Given the description of an element on the screen output the (x, y) to click on. 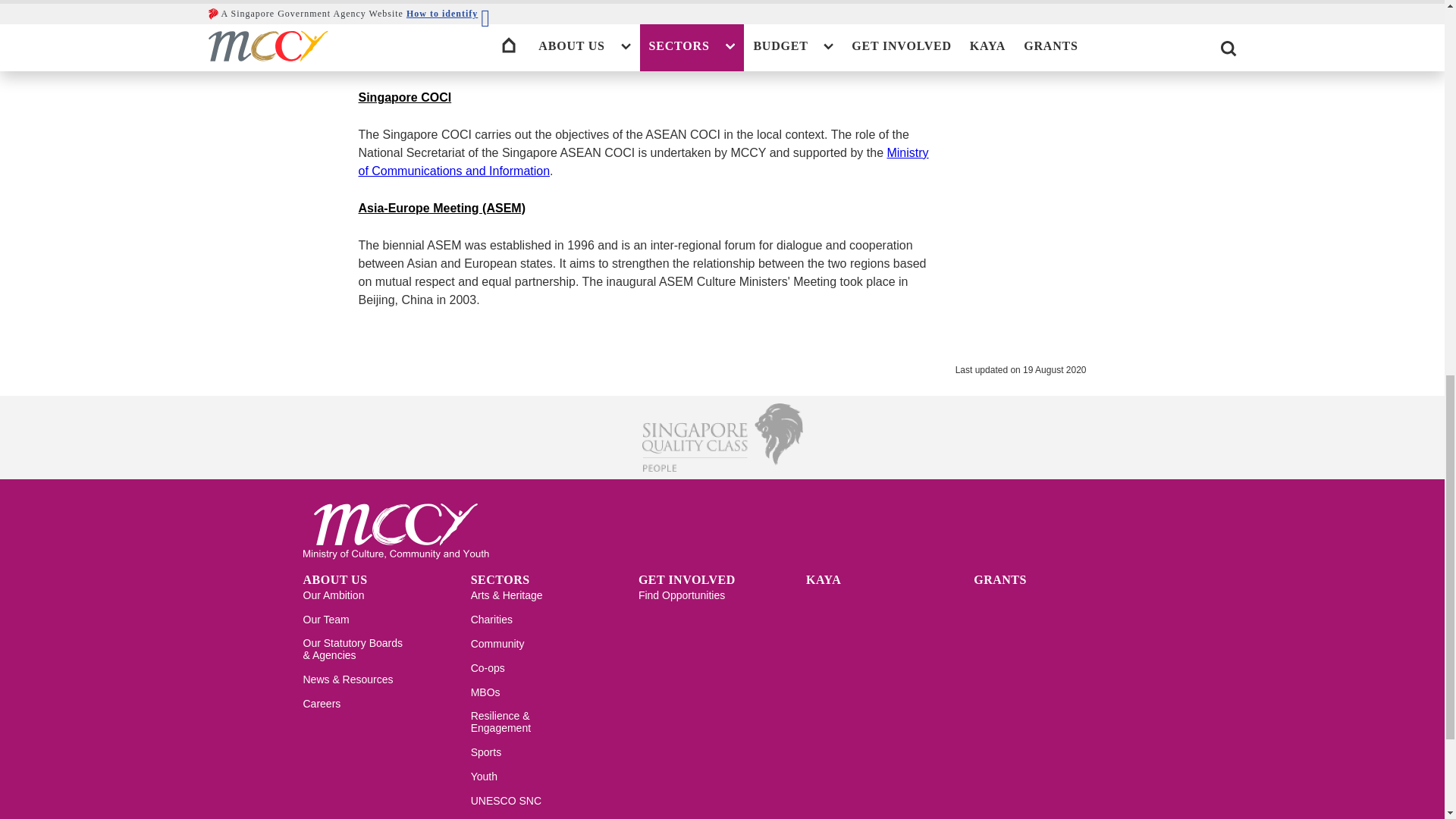
Our Team (325, 625)
Ministry of Communications and Information (643, 161)
Our Ambition (333, 600)
